Given the description of an element on the screen output the (x, y) to click on. 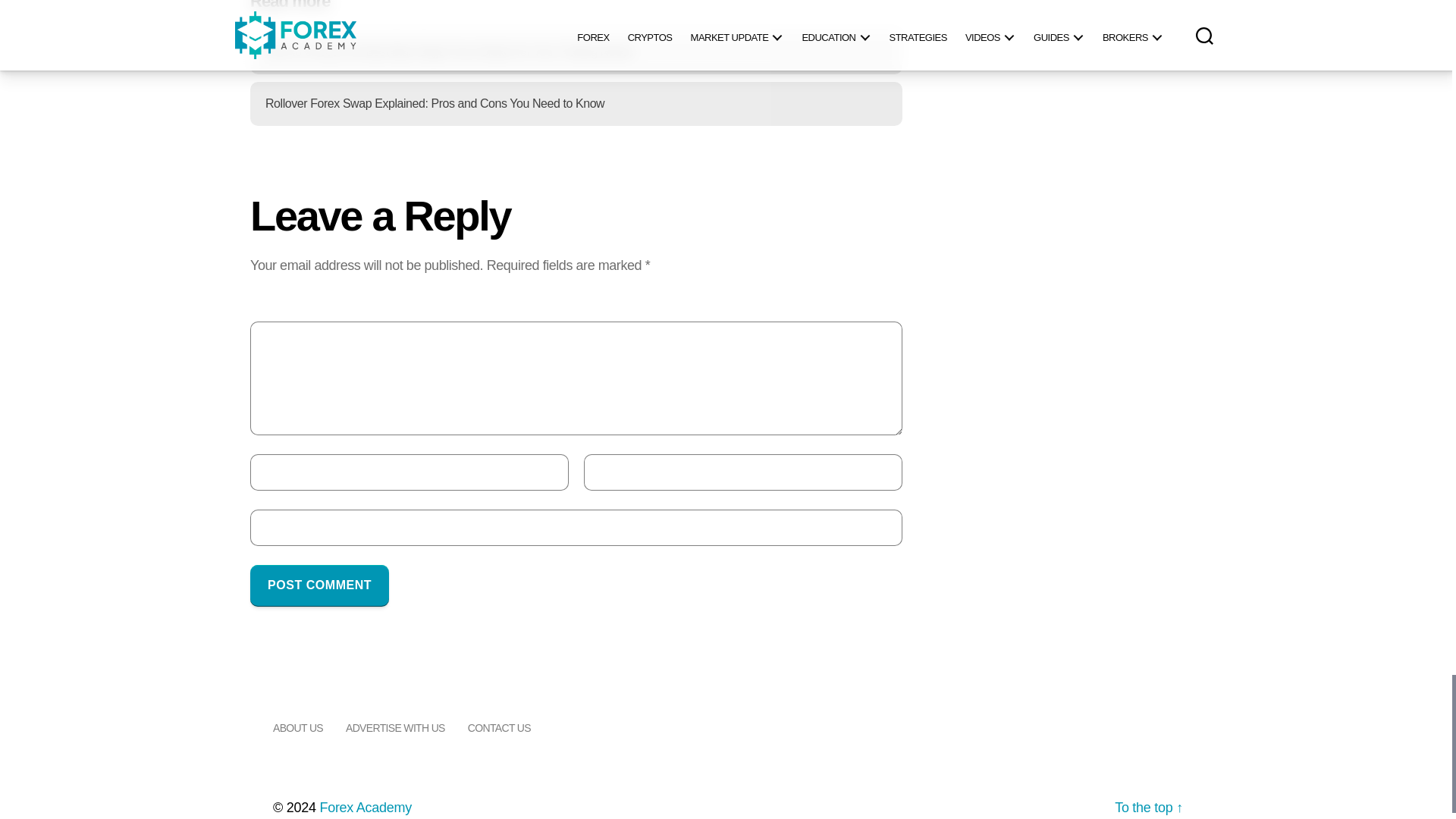
Post Comment (319, 585)
